Given the description of an element on the screen output the (x, y) to click on. 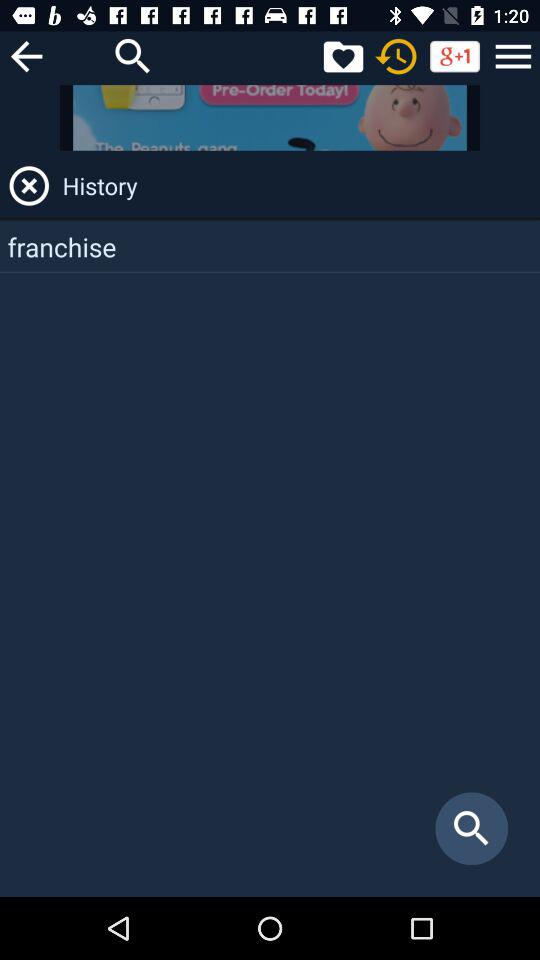
refresh page (396, 56)
